Given the description of an element on the screen output the (x, y) to click on. 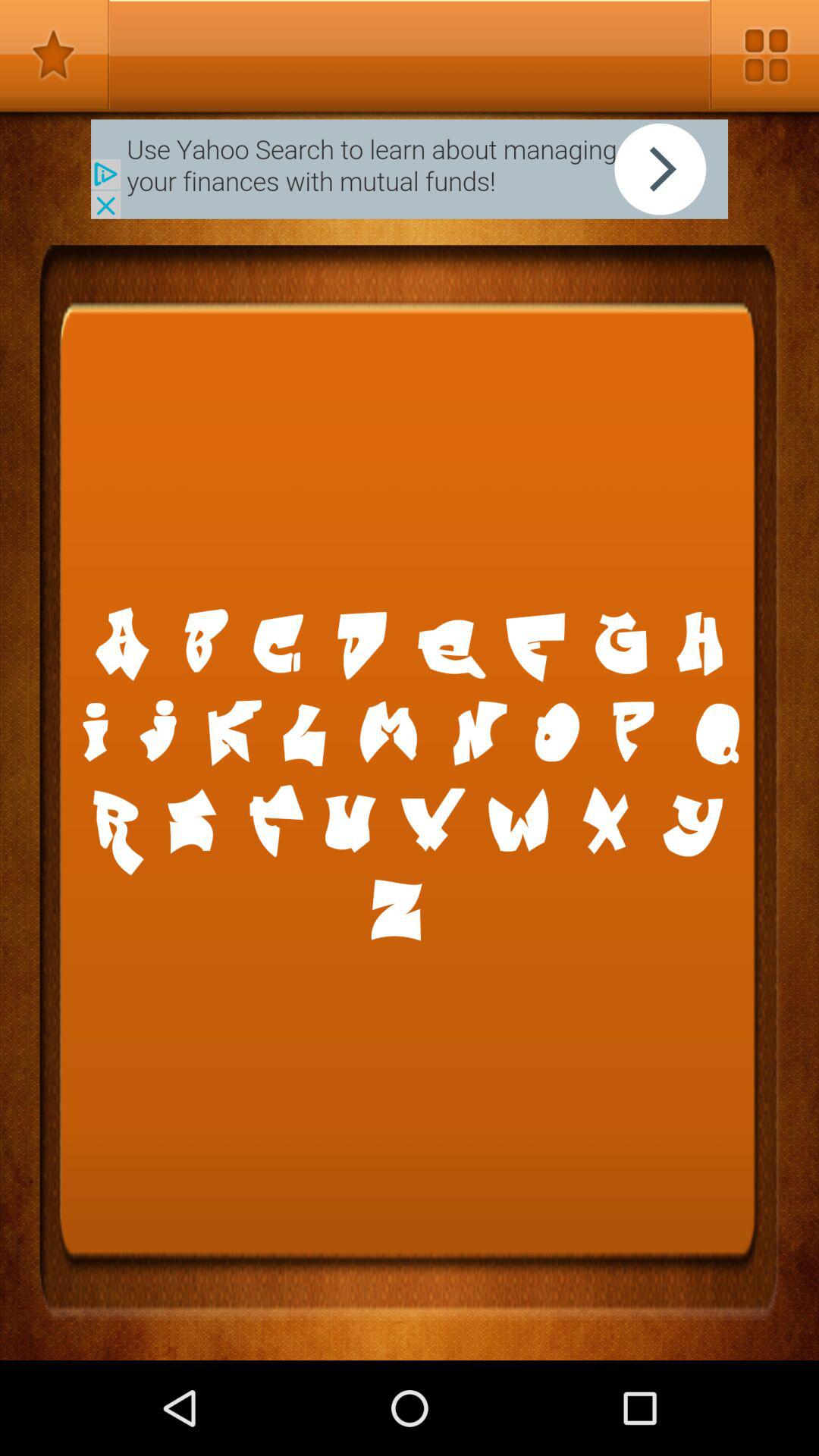
faverded (54, 54)
